Given the description of an element on the screen output the (x, y) to click on. 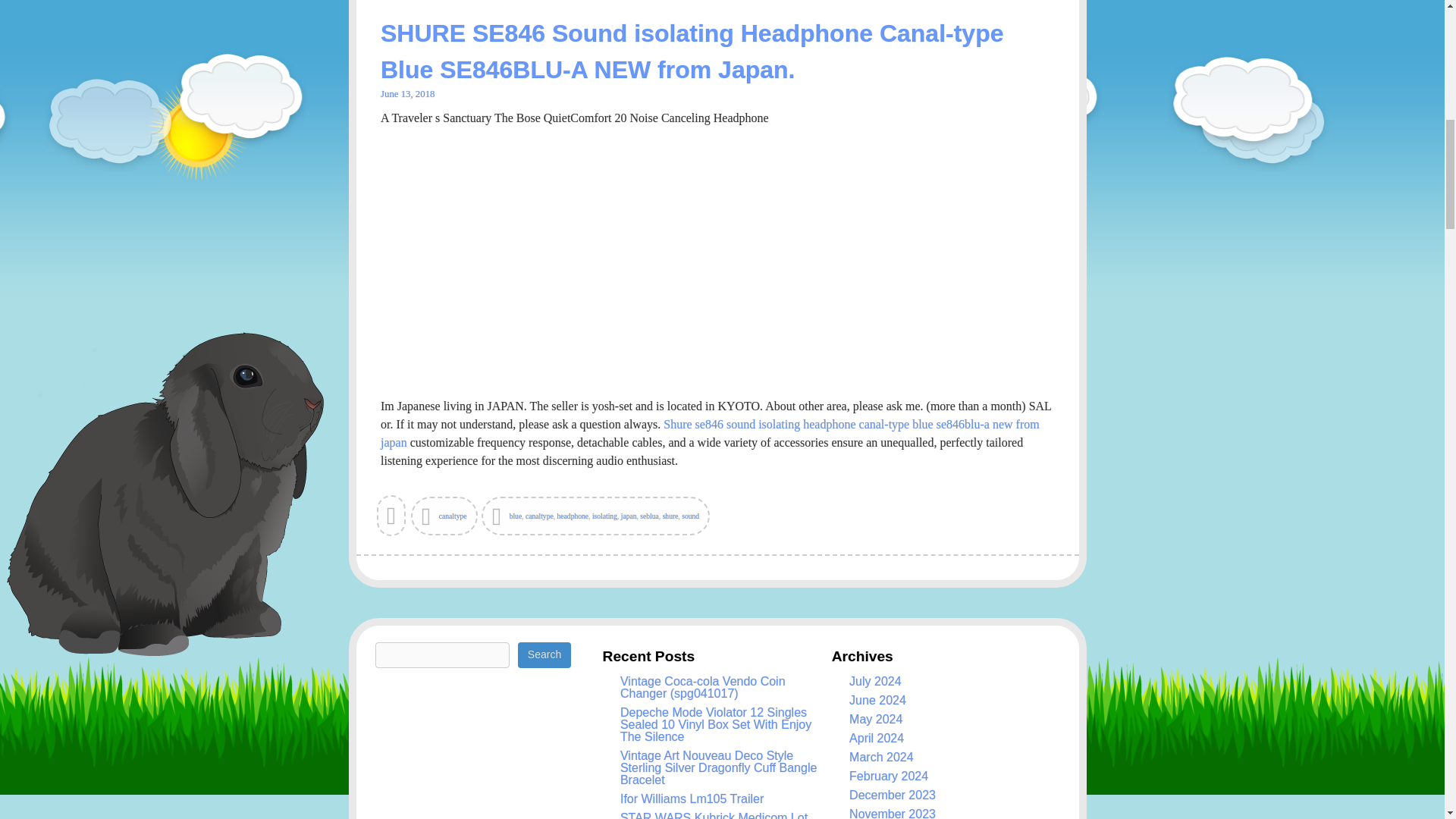
Search (544, 655)
isolating (604, 515)
japan (629, 515)
Tags (595, 515)
Category (443, 515)
shure (670, 515)
June 13, 2018 (406, 93)
headphone (573, 515)
June 2024 (876, 699)
canaltype (453, 515)
View all posts by admin (392, 520)
May 2024 (875, 718)
